Given the description of an element on the screen output the (x, y) to click on. 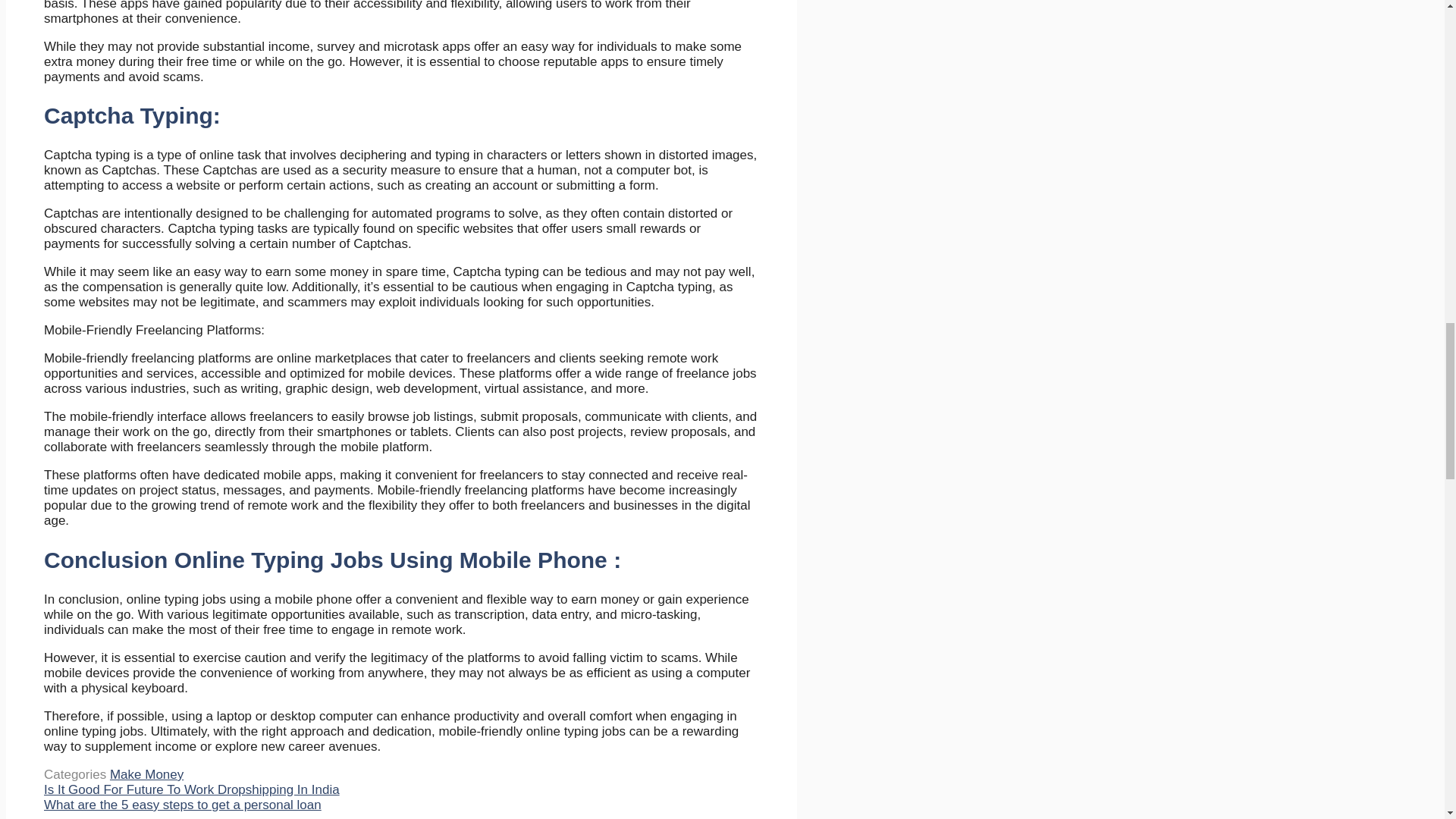
What are the 5 easy steps to get a personal loan (182, 804)
Is It Good For Future To Work Dropshipping In India (191, 789)
Make Money (146, 774)
